Given the description of an element on the screen output the (x, y) to click on. 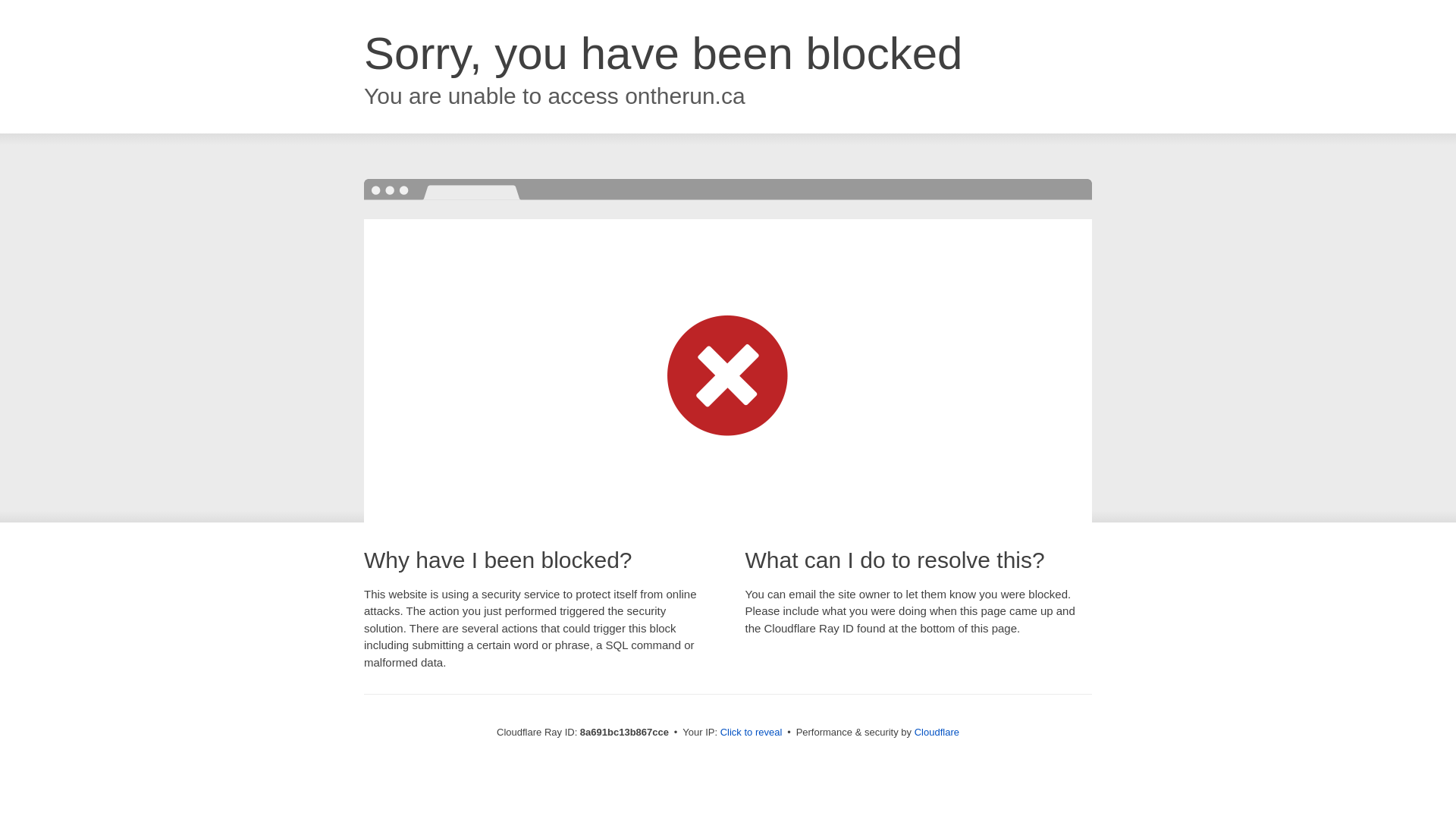
Cloudflare (936, 731)
Click to reveal (751, 732)
